Given the description of an element on the screen output the (x, y) to click on. 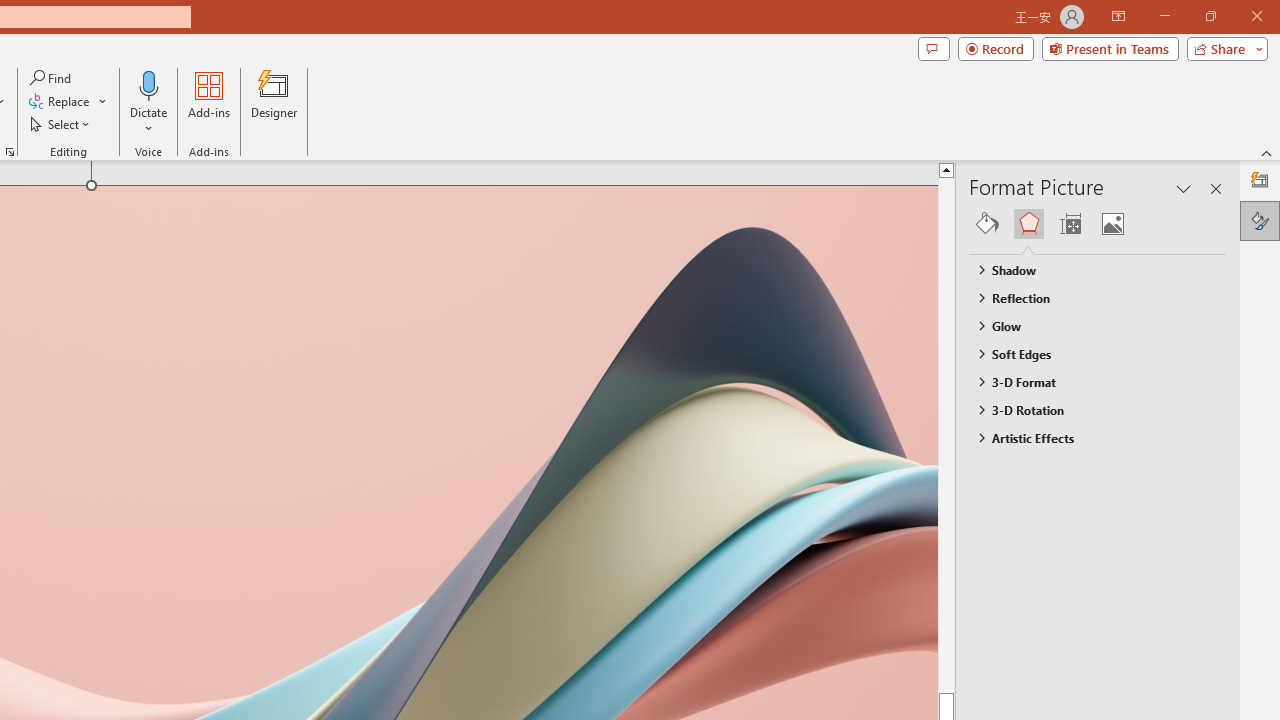
Class: NetUIGalleryContainer (1098, 223)
Picture (1112, 223)
3-D Format (1088, 381)
Artistic Effects (1088, 438)
